Given the description of an element on the screen output the (x, y) to click on. 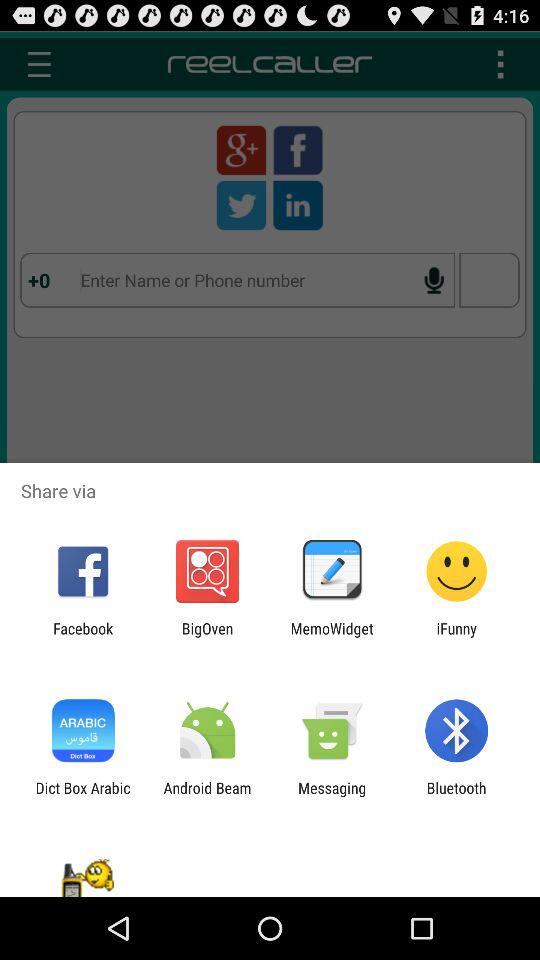
turn on the memowidget icon (331, 637)
